Given the description of an element on the screen output the (x, y) to click on. 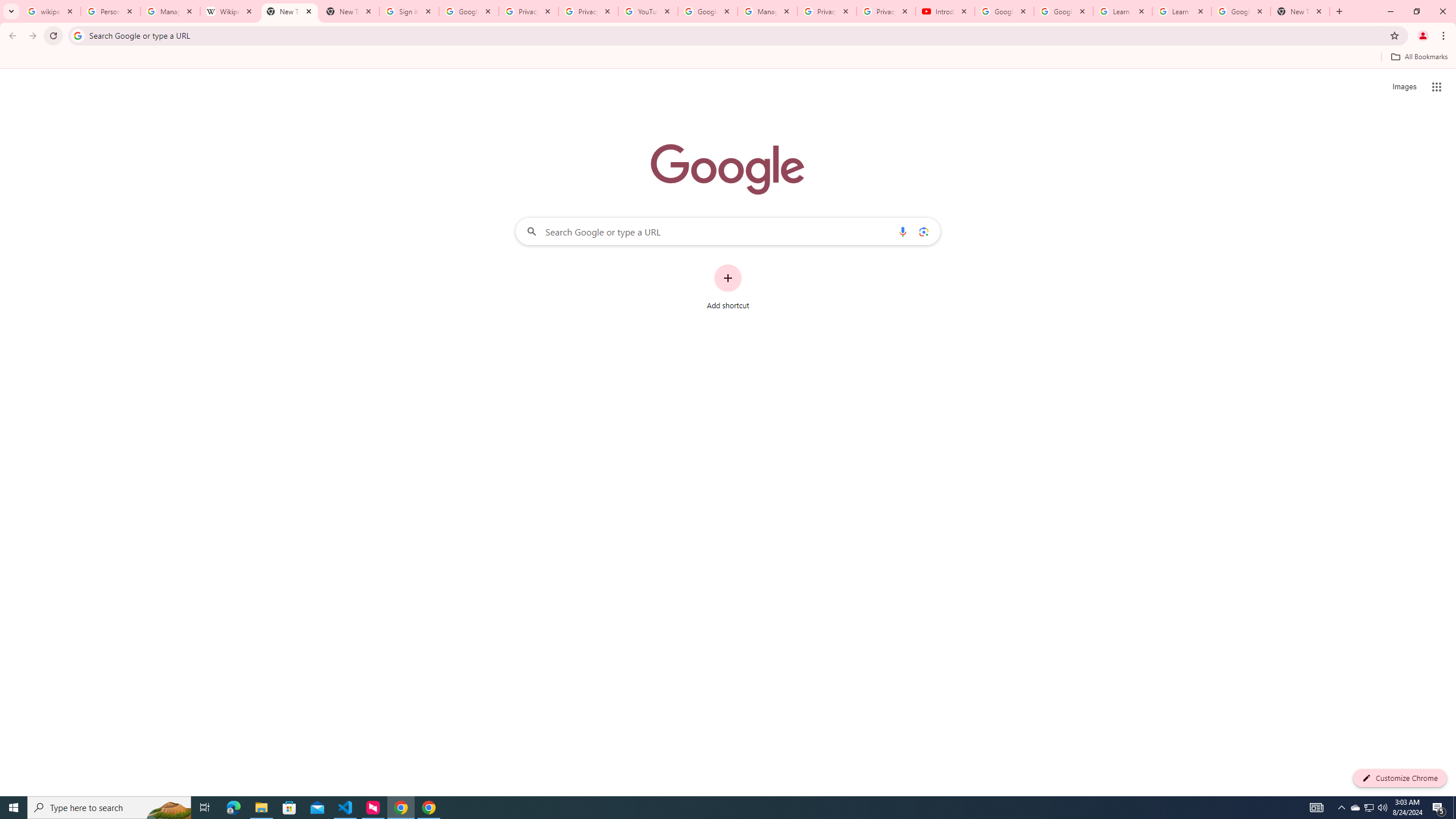
Google Drive: Sign-in (468, 11)
Google Account Help (1063, 11)
New Tab (349, 11)
Google Account Help (1004, 11)
Bookmarks (728, 58)
